Given the description of an element on the screen output the (x, y) to click on. 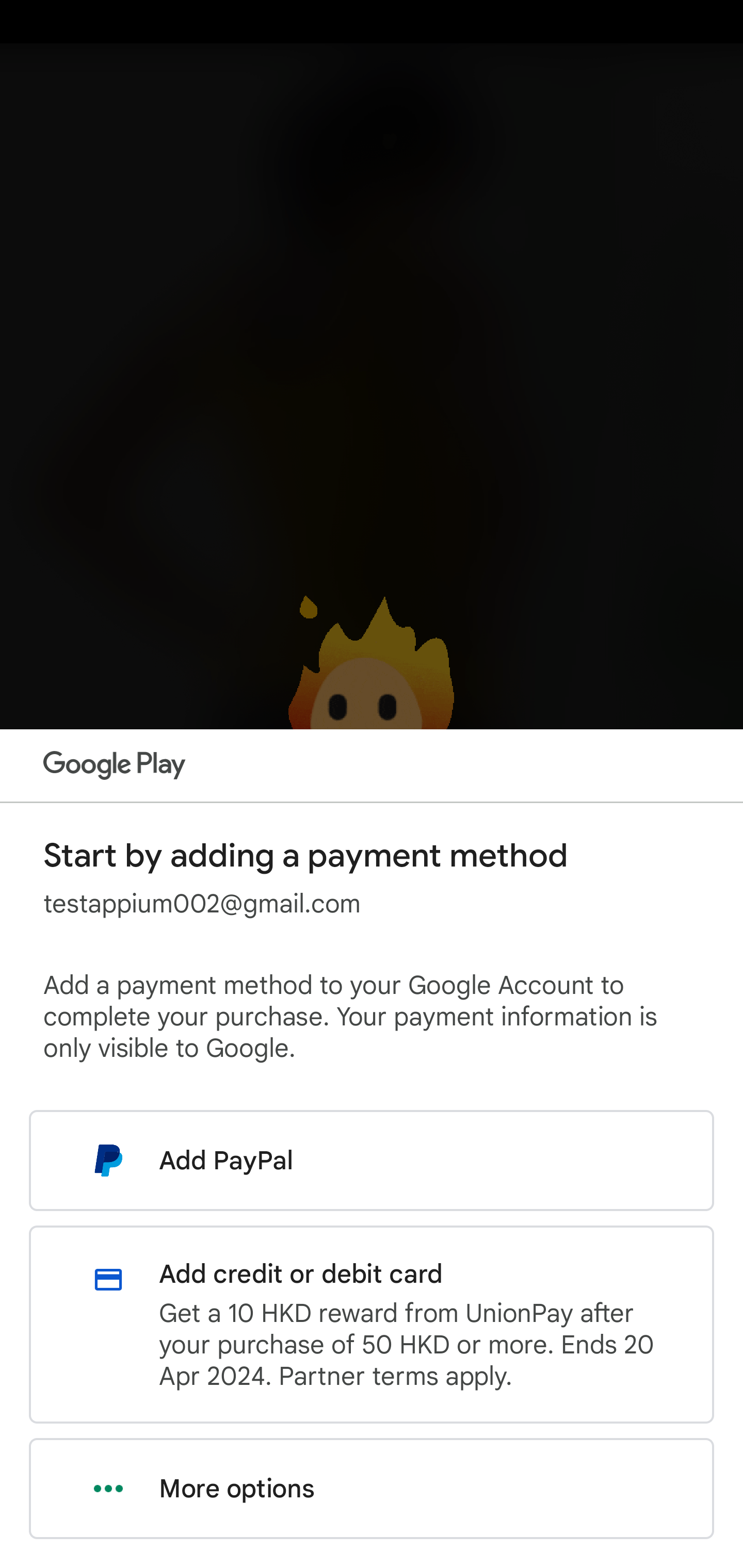
Add PayPal (371, 1160)
More options (371, 1488)
